Given the description of an element on the screen output the (x, y) to click on. 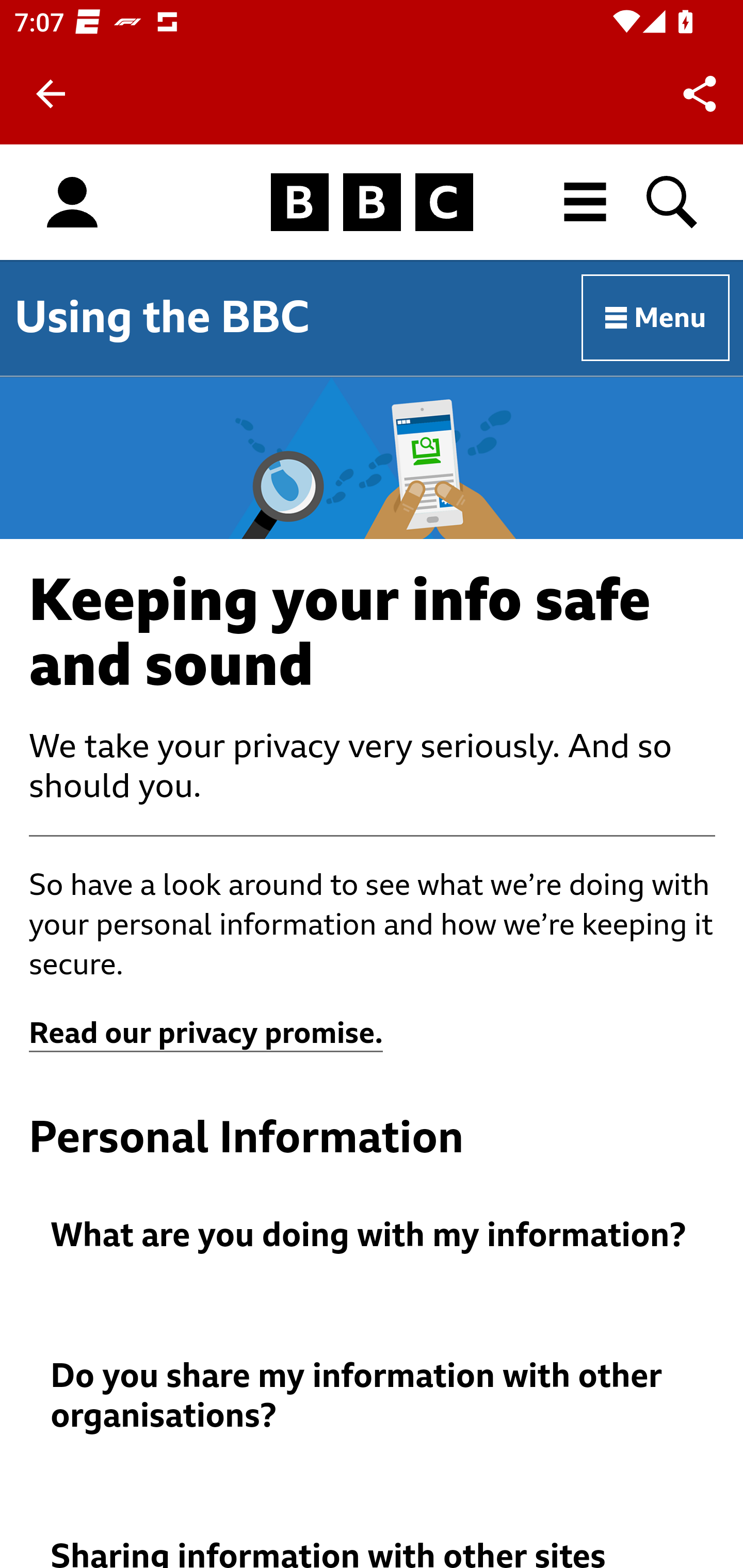
Back (50, 93)
Share (699, 93)
All BBC destinations menu (585, 202)
Search BBC (672, 202)
Sign in (71, 203)
Homepage (371, 203)
Menu (656, 318)
Using the BBC (162, 317)
Read our privacy promise. (206, 1034)
What are you doing with my information? (372, 1235)
Sharing information with other sites (372, 1552)
